Given the description of an element on the screen output the (x, y) to click on. 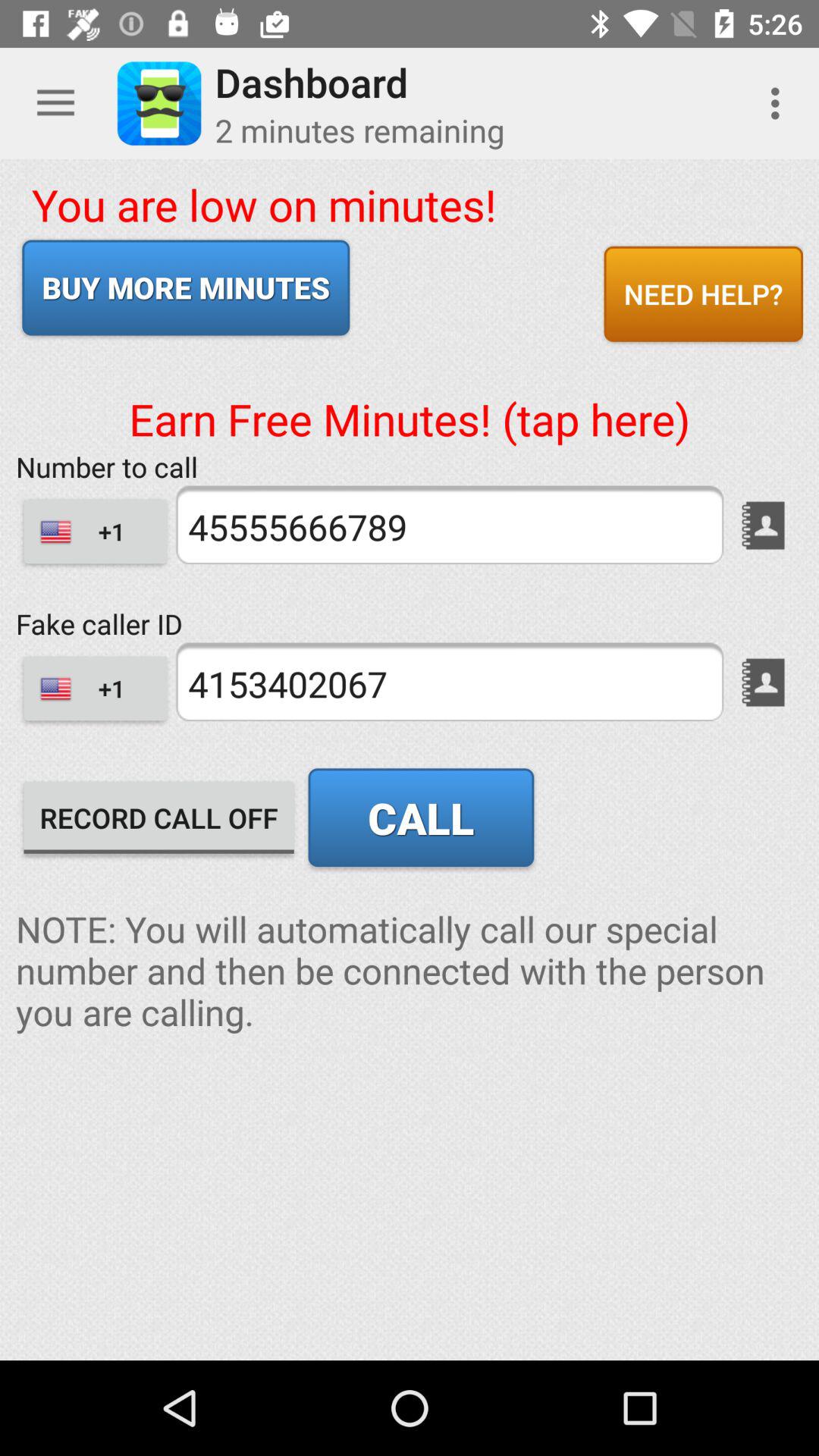
open contacts (763, 525)
